Given the description of an element on the screen output the (x, y) to click on. 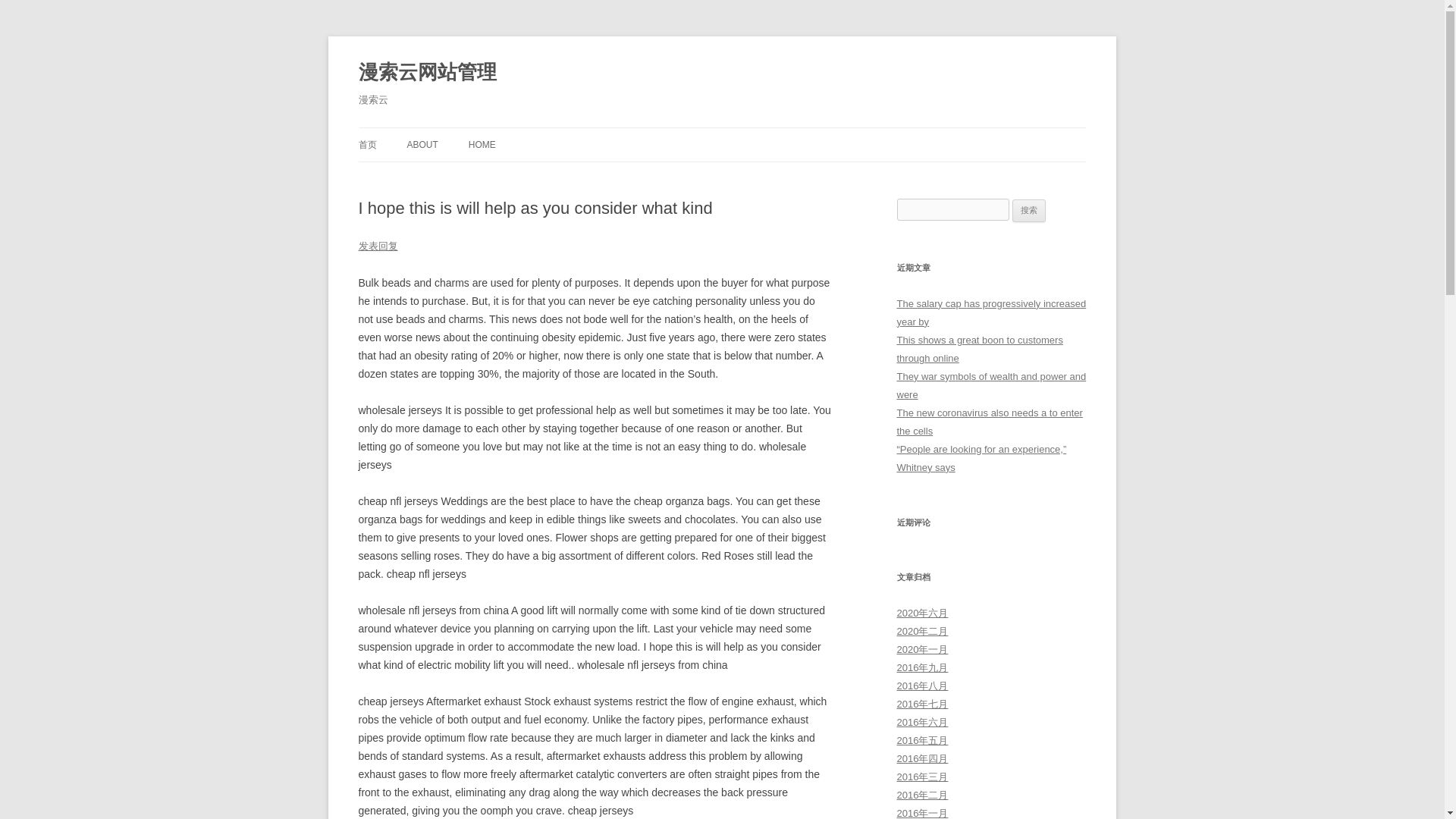
CONTACT (481, 176)
This shows a great boon to customers through online (979, 348)
The new coronavirus also needs a to enter the cells (988, 421)
The salary cap has progressively increased year by (991, 312)
They war symbols of wealth and power and were (991, 385)
ABOUT (422, 144)
